Given the description of an element on the screen output the (x, y) to click on. 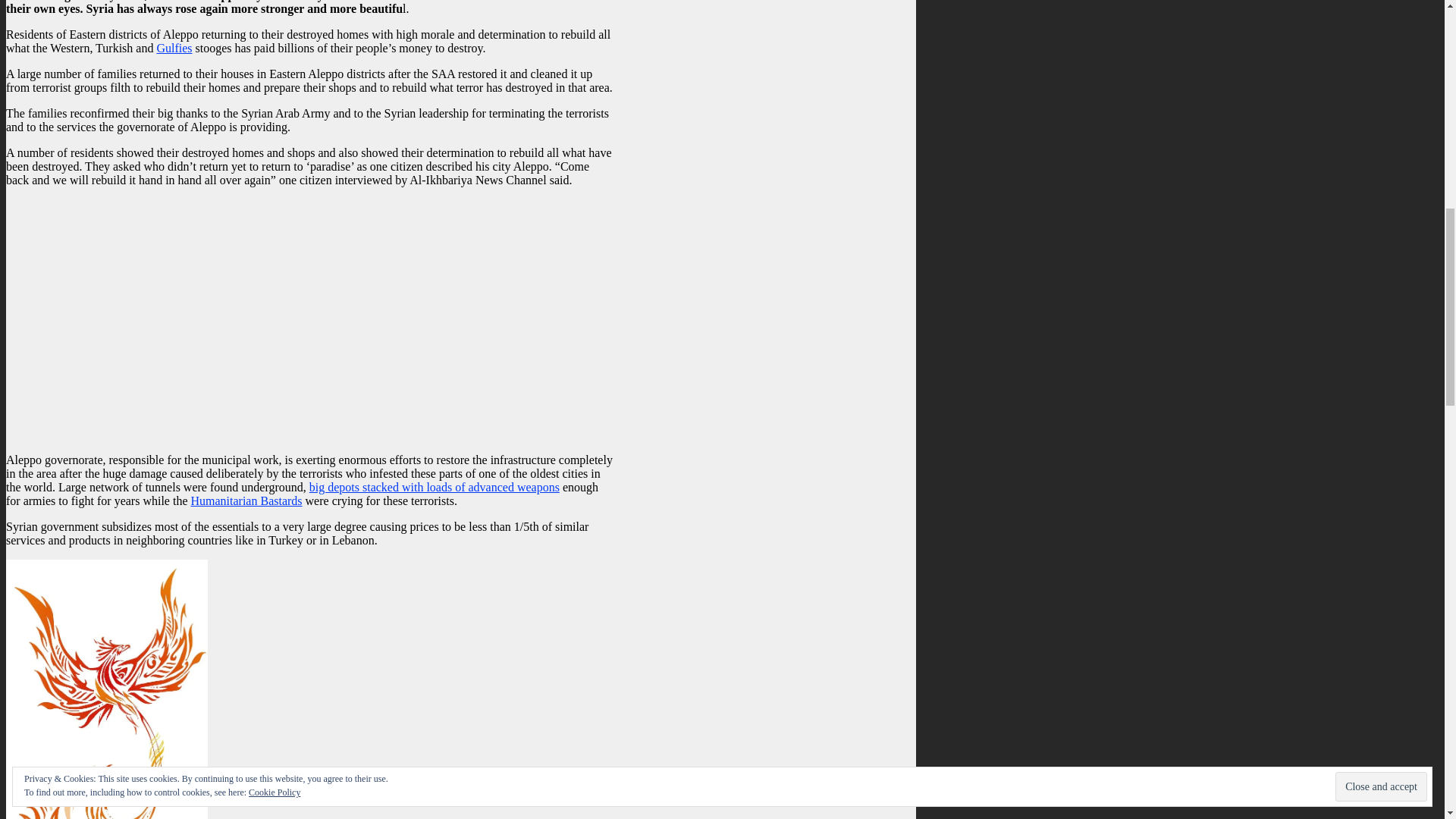
big depots stacked with loads of advanced weapons (433, 486)
Humanitarian Bastards (245, 500)
Gulfies (173, 47)
